Given the description of an element on the screen output the (x, y) to click on. 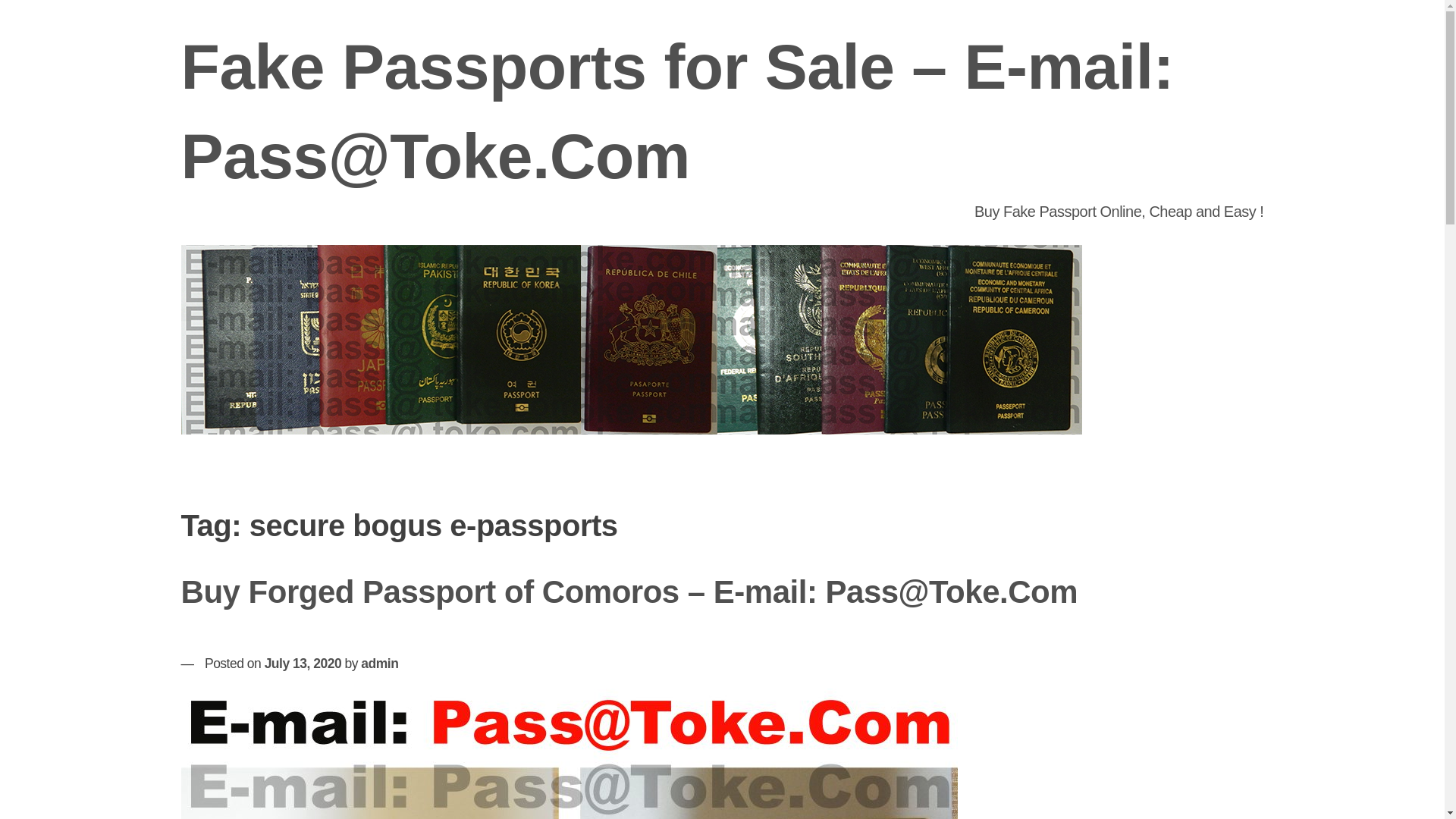
July 13, 2020 (303, 663)
Buy Forged Passport of Comoros (569, 753)
admin (379, 663)
